Given the description of an element on the screen output the (x, y) to click on. 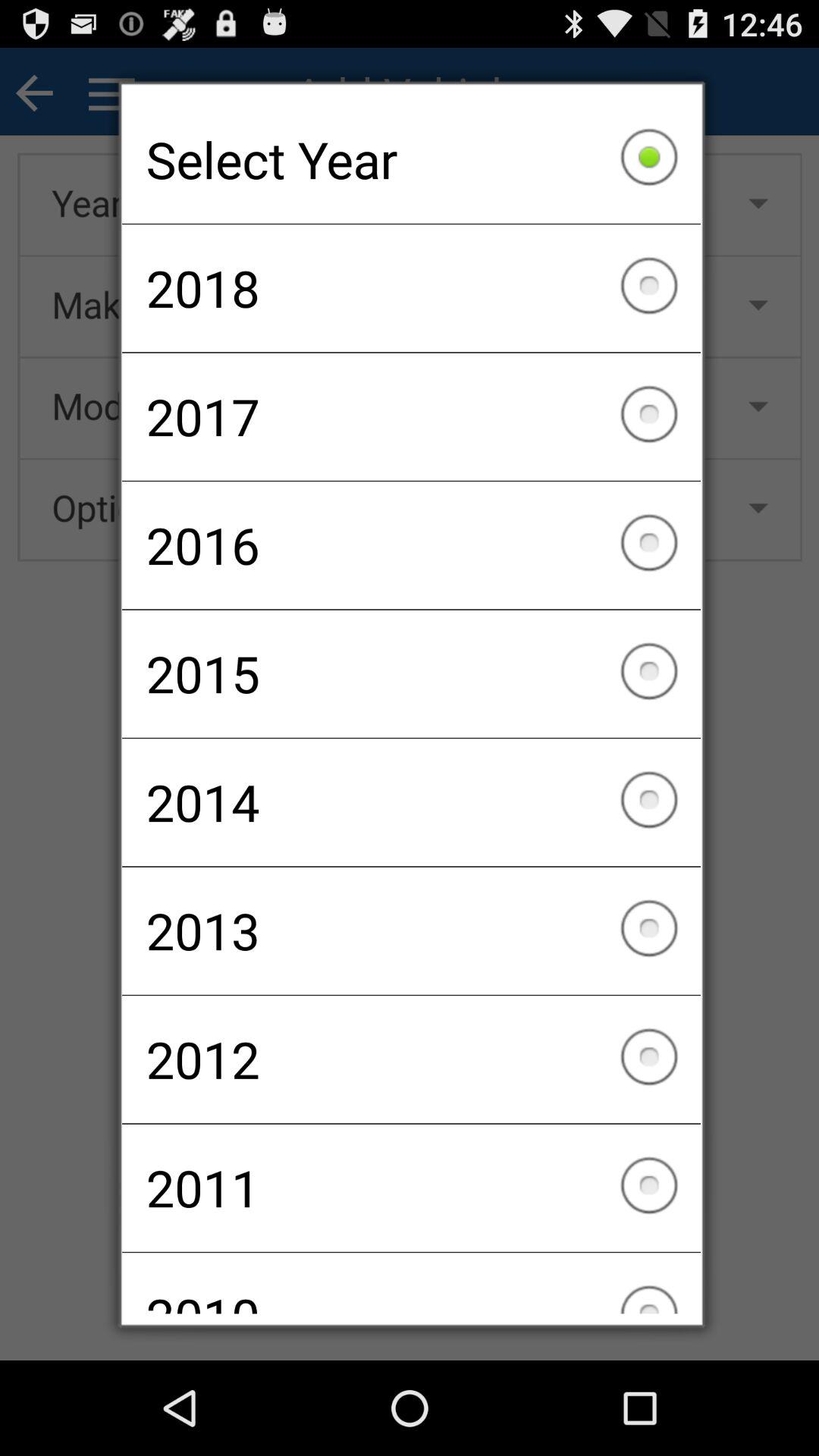
open 2012 icon (411, 1059)
